Given the description of an element on the screen output the (x, y) to click on. 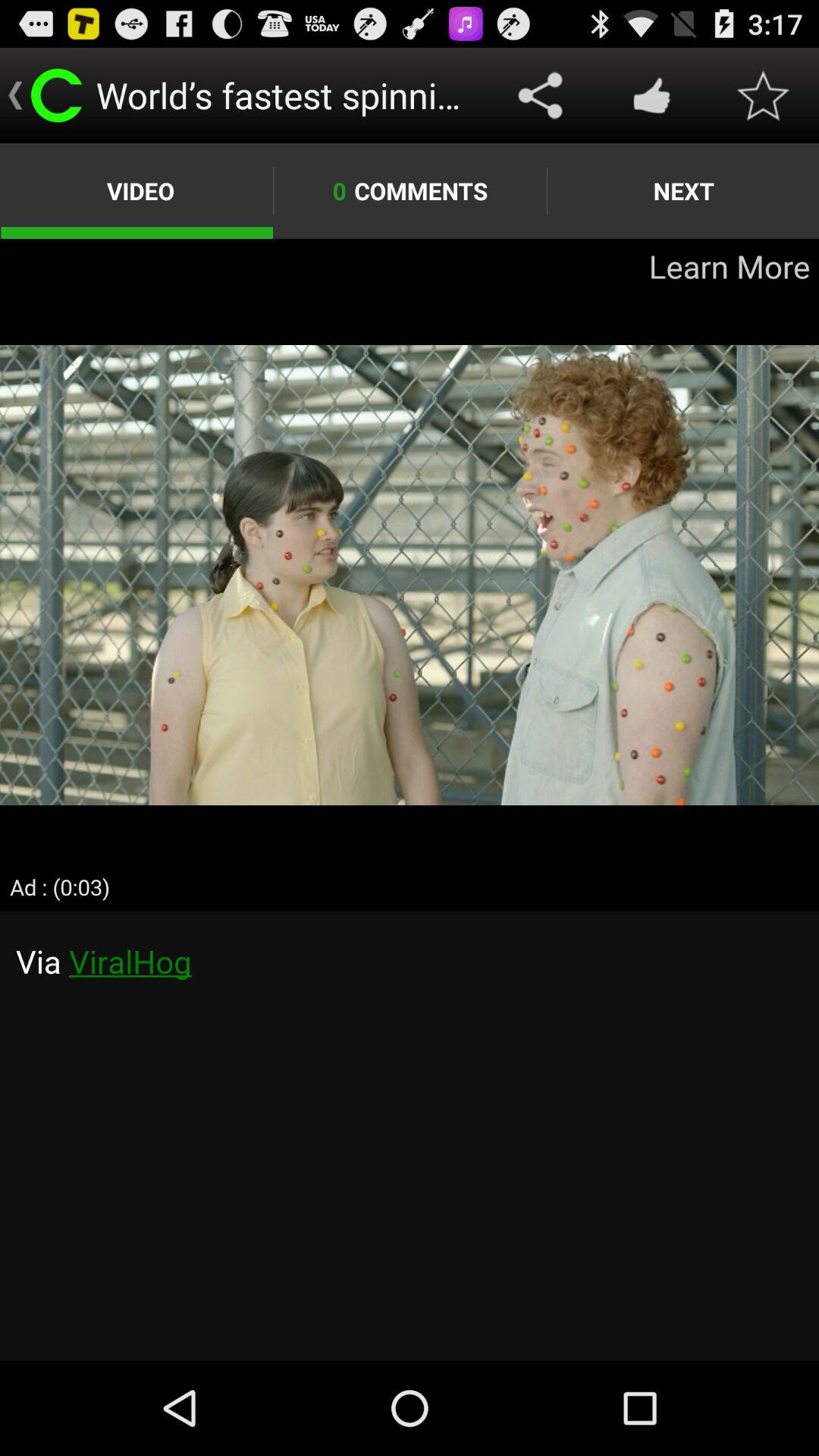
learn more (409, 574)
